Given the description of an element on the screen output the (x, y) to click on. 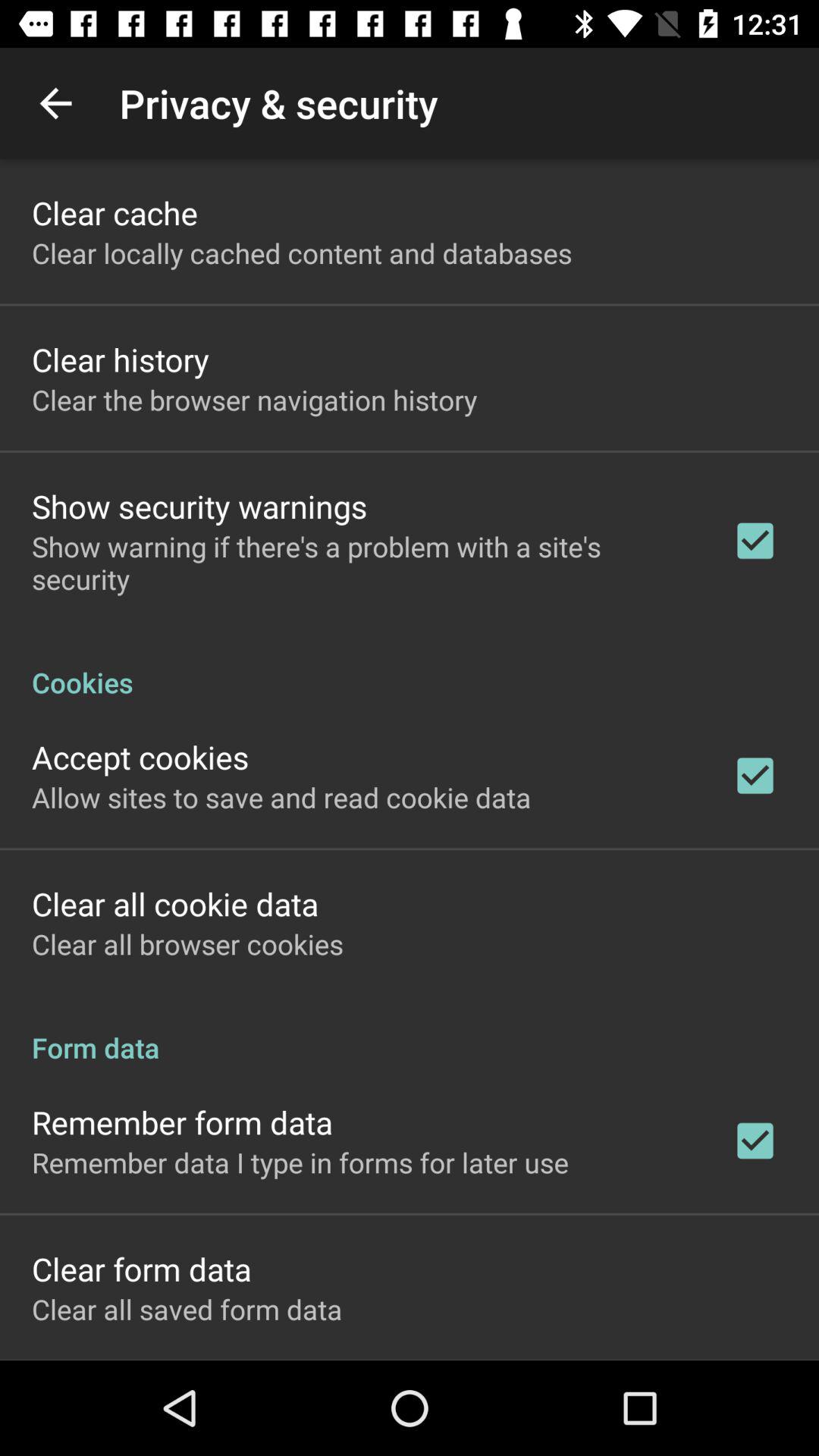
turn on the item next to the privacy & security icon (55, 103)
